Given the description of an element on the screen output the (x, y) to click on. 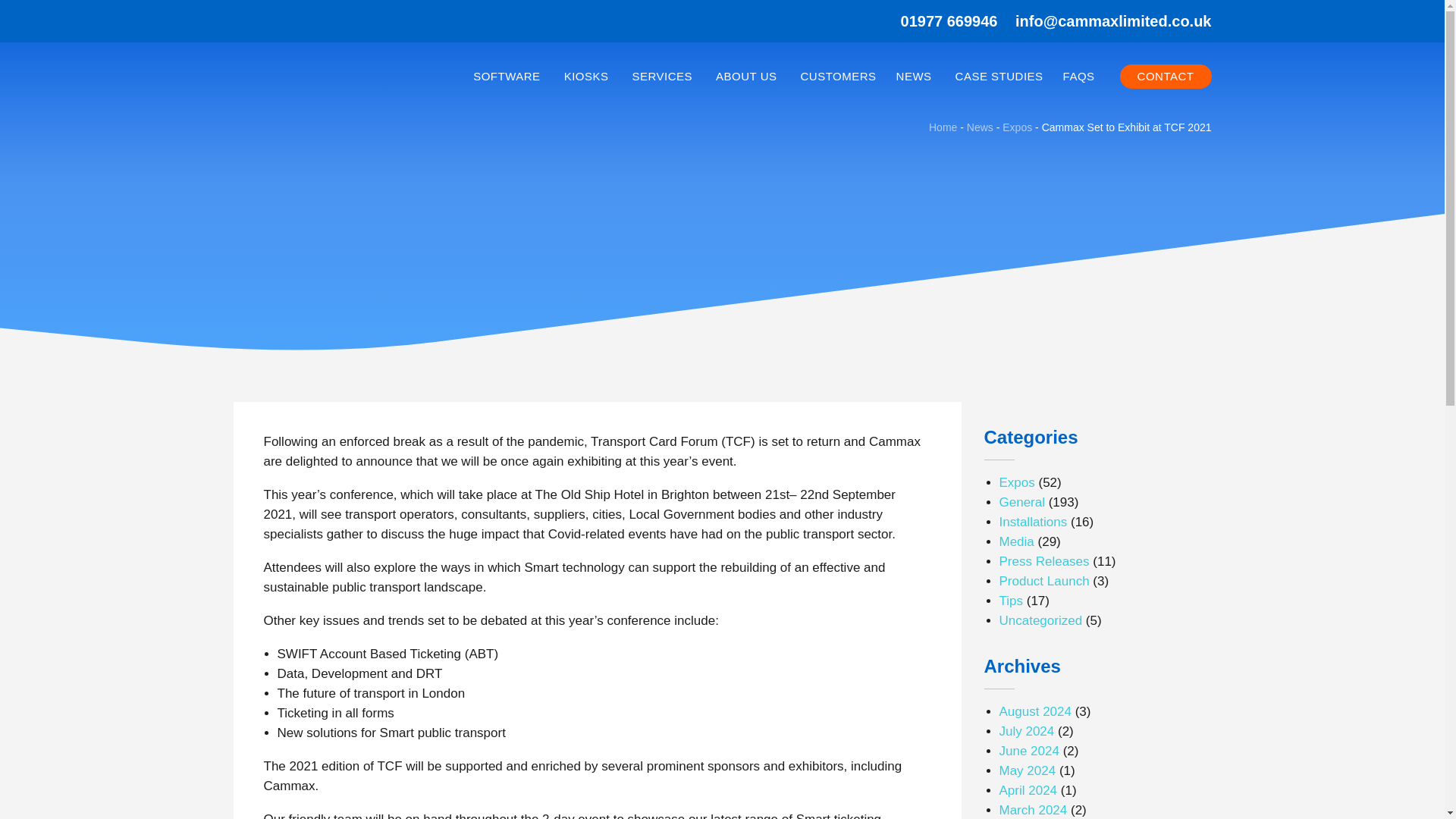
CUSTOMERS (837, 76)
01977 669946 (949, 21)
CONTACT (1165, 76)
KIOSKS (588, 76)
Expos (1017, 127)
ABOUT US (748, 76)
Home (942, 127)
News (979, 127)
SOFTWARE (508, 76)
SERVICES (663, 76)
